Given the description of an element on the screen output the (x, y) to click on. 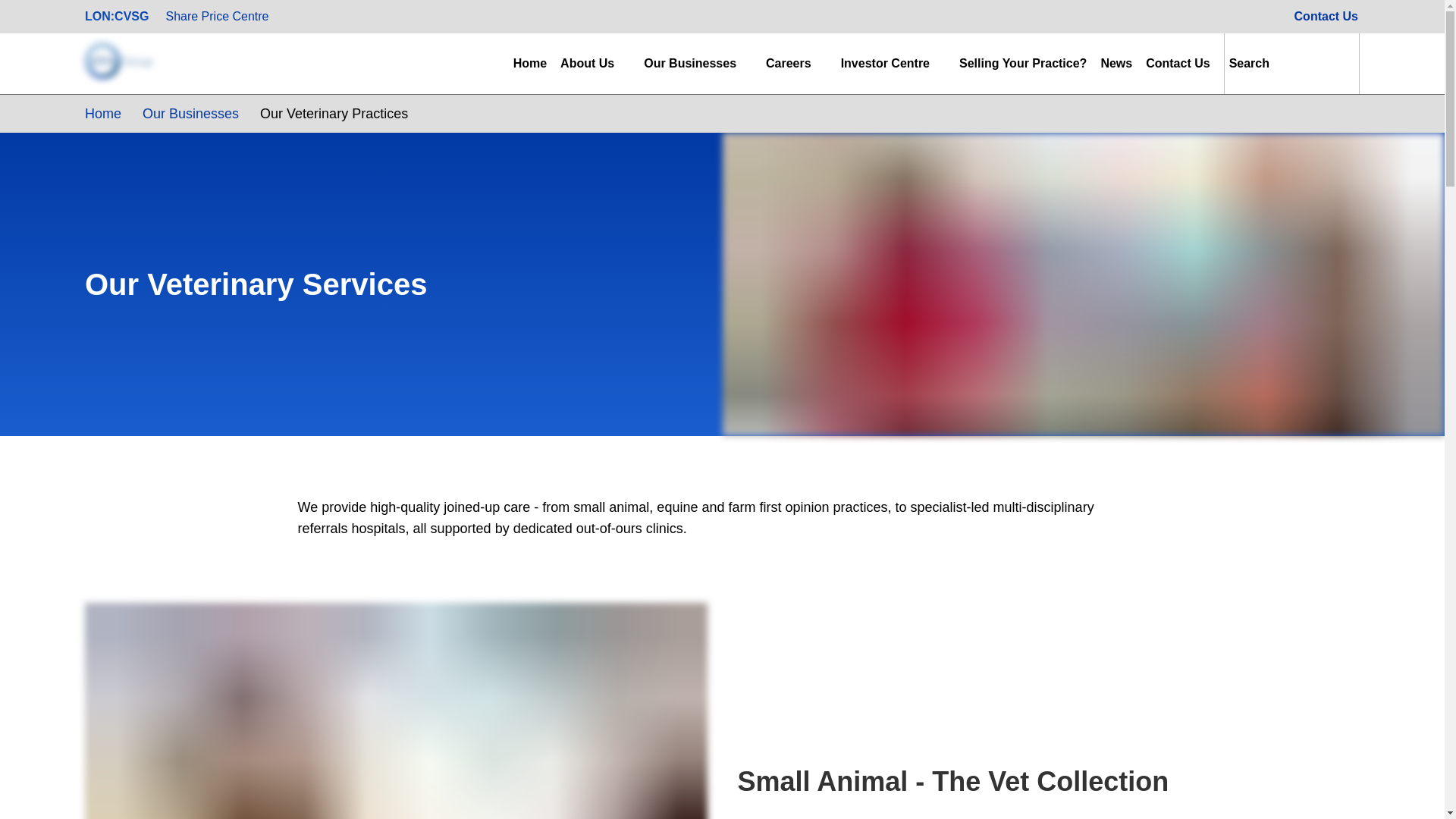
Share Price Centre (216, 16)
Contact Us (1325, 16)
Contact Us (1177, 63)
Selling Your Practice? (1022, 63)
